Given the description of an element on the screen output the (x, y) to click on. 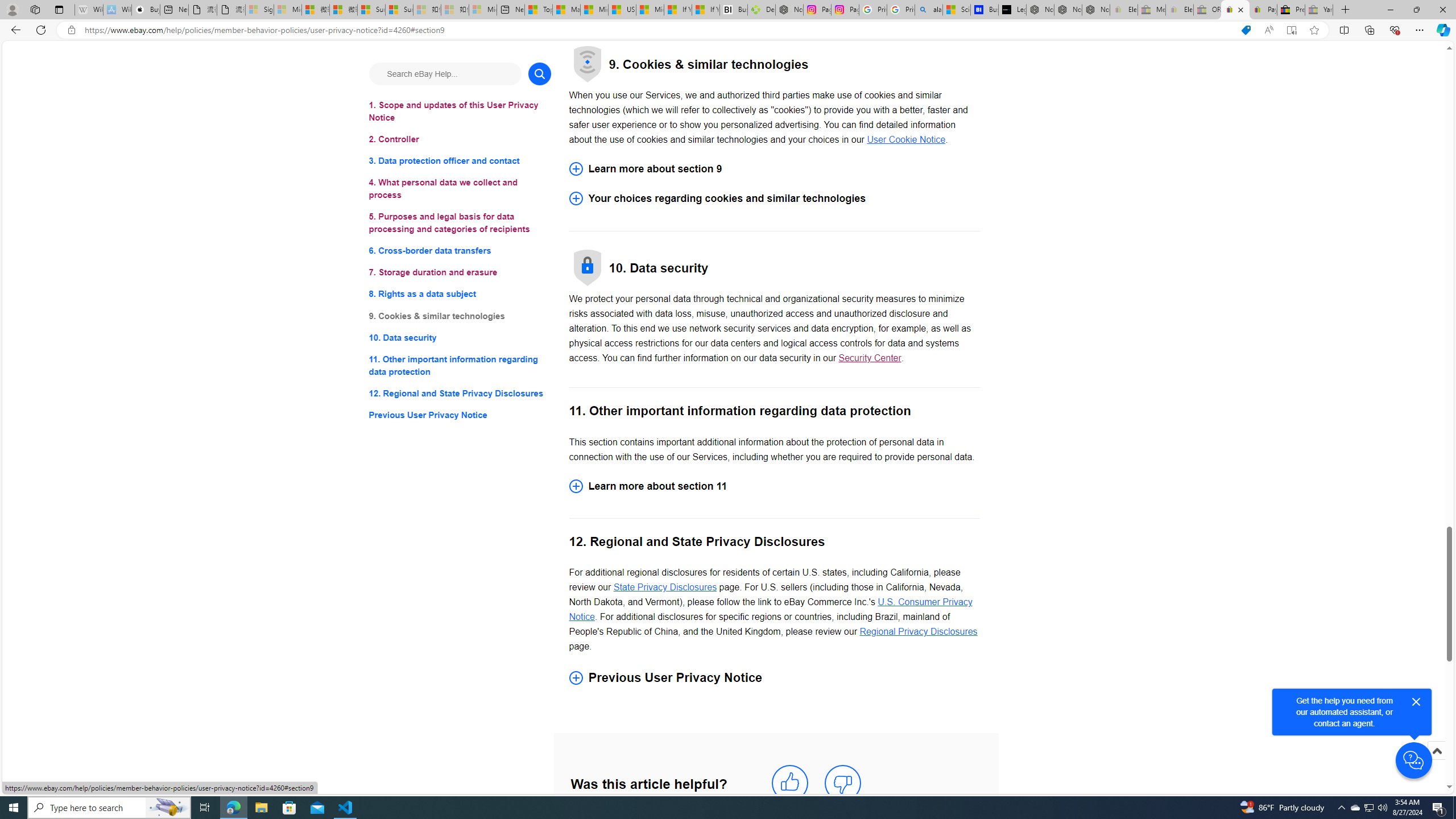
3. Data protection officer and contact (459, 160)
Buy iPad - Apple (145, 9)
10. Data security (459, 336)
Search eBay Help... (444, 73)
Your choices regarding cookies and similar technologies (774, 198)
Previous User Privacy Notice (459, 414)
alabama high school quarterback dies - Search (928, 9)
Enter Immersive Reader (F9) (1291, 29)
Payments Terms of Use | eBay.com (1262, 9)
Top Stories - MSN (538, 9)
7. Storage duration and erasure (459, 272)
